Given the description of an element on the screen output the (x, y) to click on. 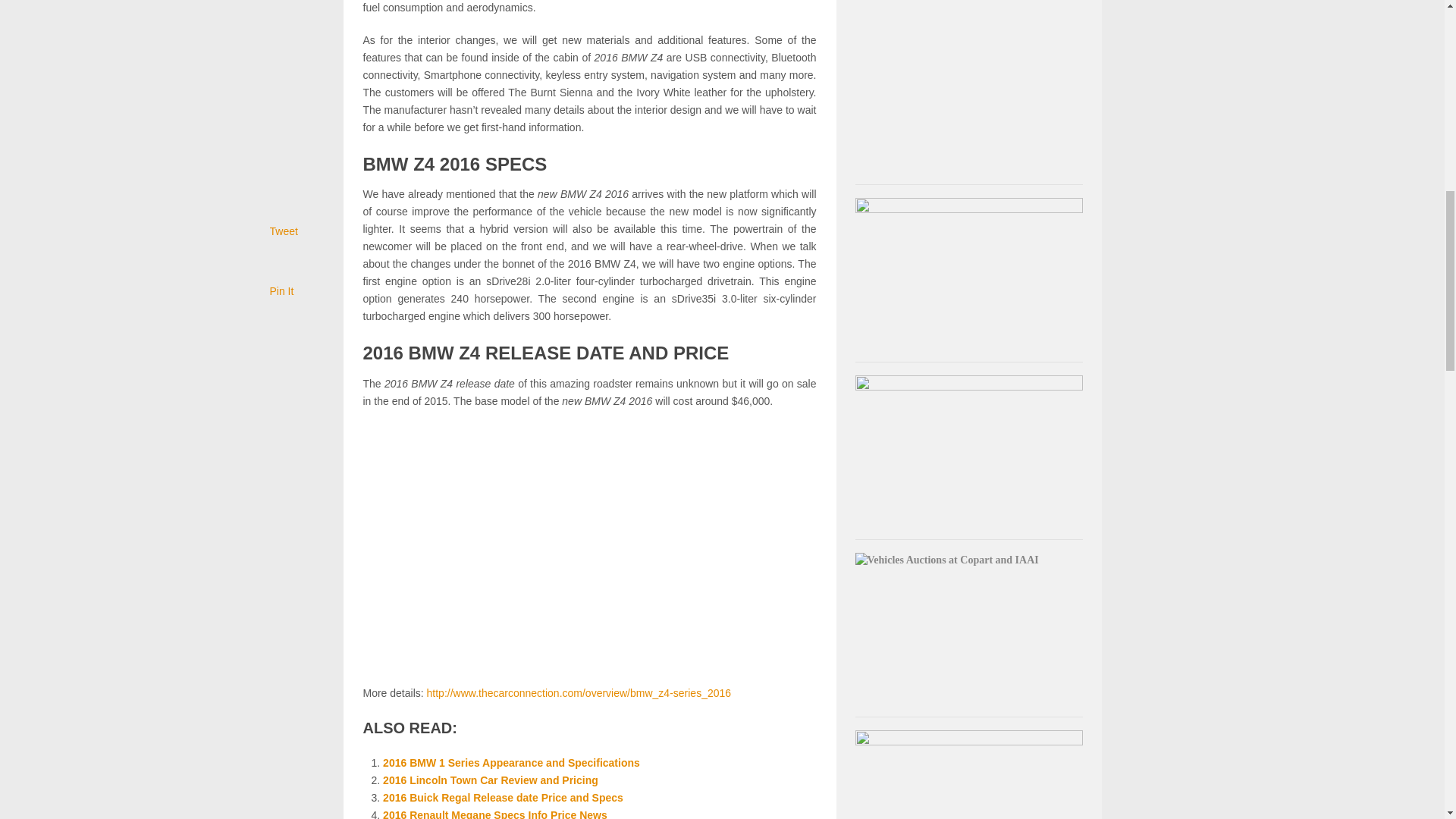
2016 Renault Megane Specs Info Price News (494, 814)
2016 BMW 1 Series Appearance and Specifications (511, 762)
2016 BMW 1 Series Appearance and Specifications (511, 762)
2016 Lincoln Town Car Review and Pricing (490, 779)
2016 Renault Megane Specs Info Price News (494, 814)
2016 Buick Regal Release date Price and Specs (502, 797)
2016 Lincoln Town Car Review and Pricing (490, 779)
2016 Buick Regal Release date Price and Specs (502, 797)
